Given the description of an element on the screen output the (x, y) to click on. 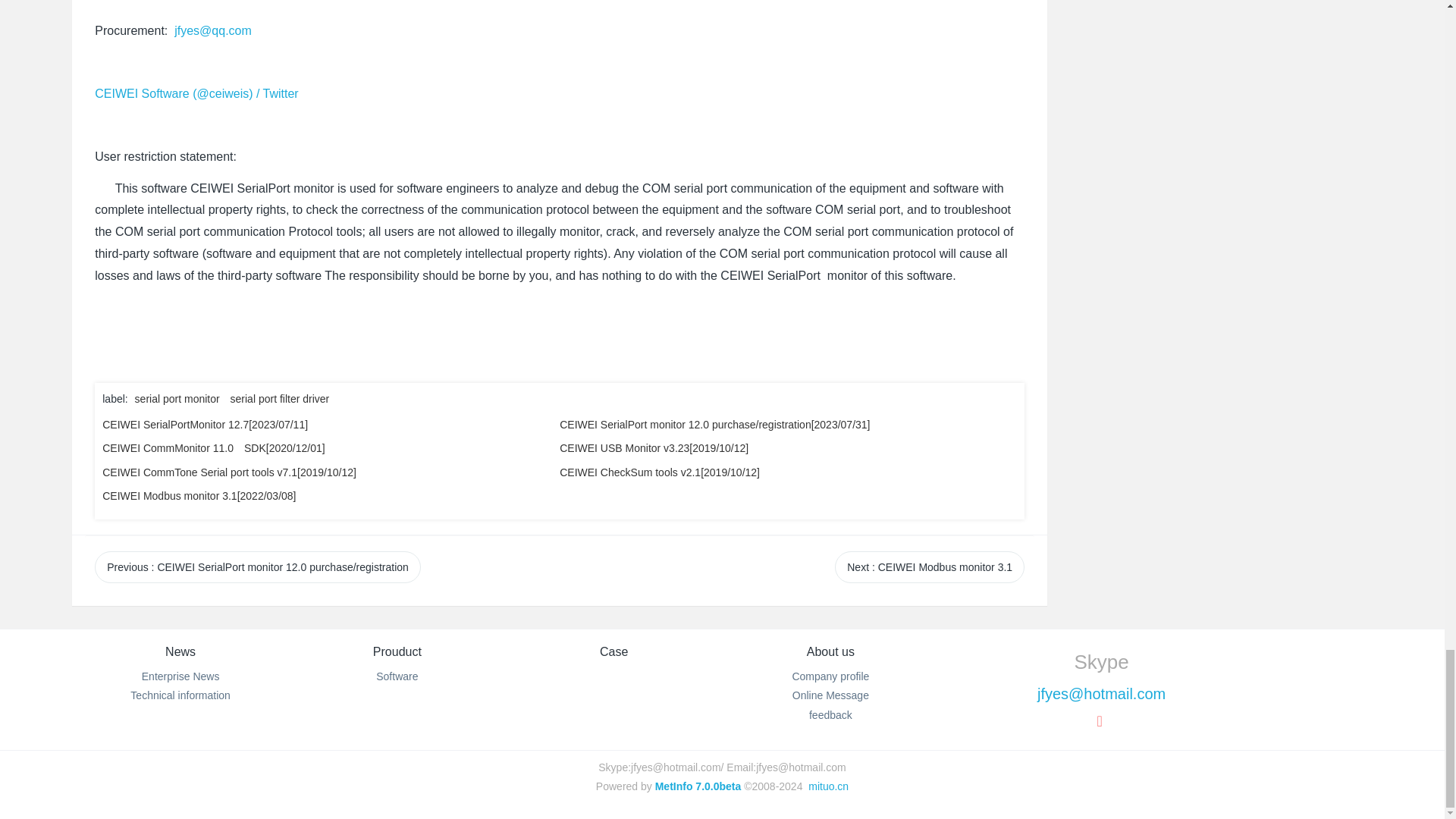
serial port monitor (177, 398)
Next : CEIWEI Modbus monitor 3.1 (929, 567)
serial port filter driver (280, 398)
